Given the description of an element on the screen output the (x, y) to click on. 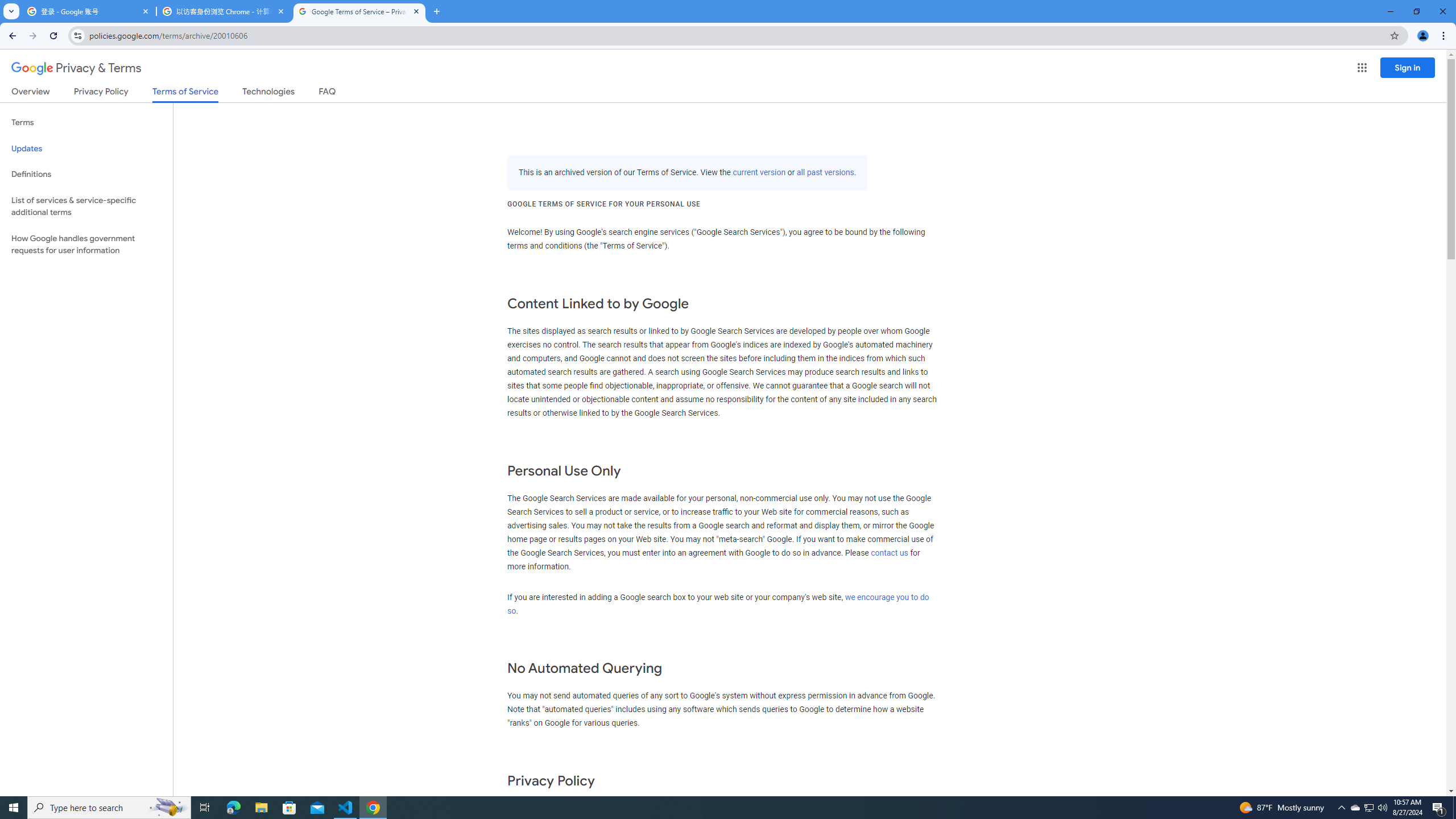
we encourage you to do so (717, 603)
